Given the description of an element on the screen output the (x, y) to click on. 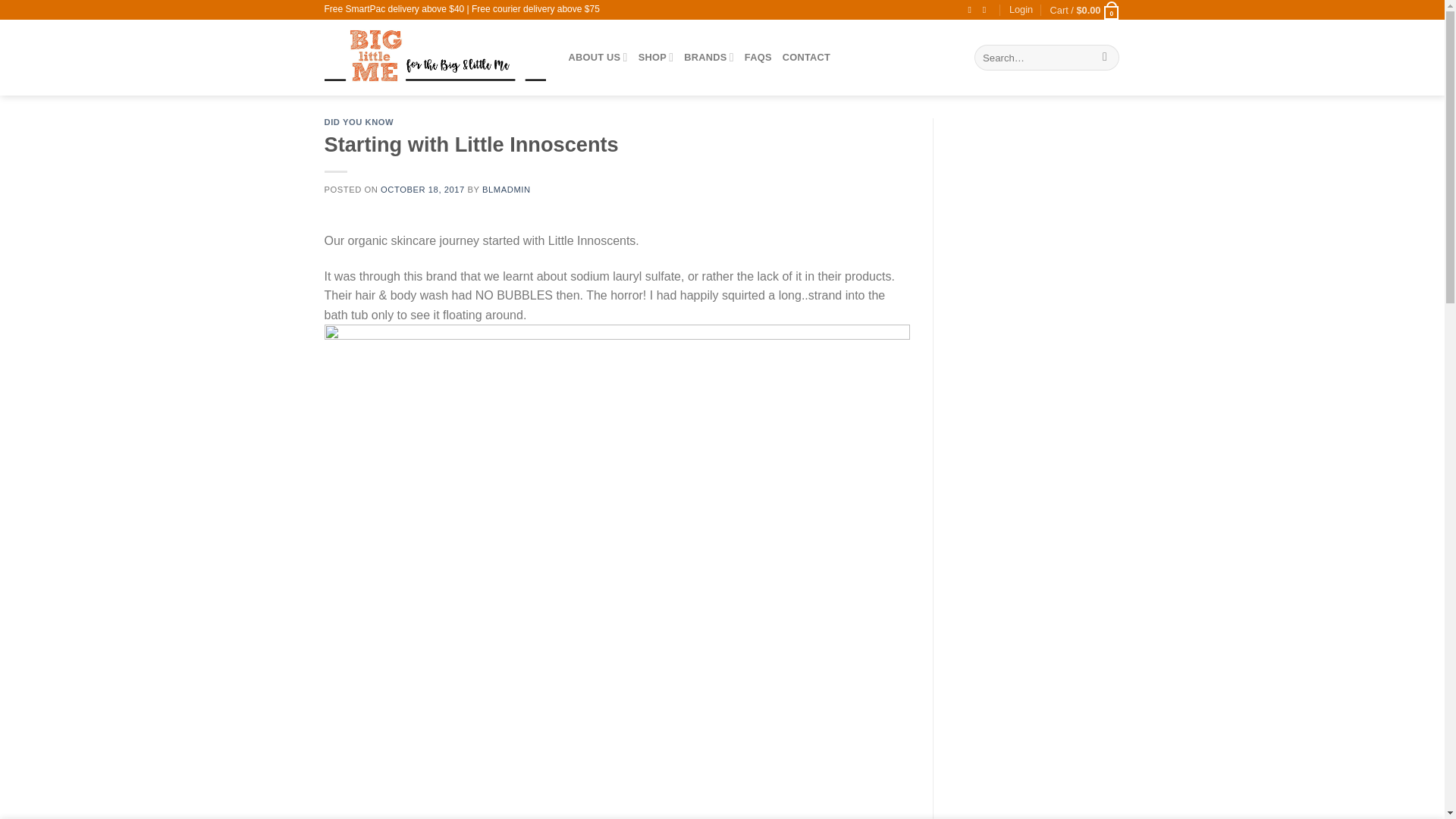
Cart (1085, 9)
SHOP (656, 57)
biglittleme.com (435, 57)
Login (1020, 9)
ABOUT US (598, 57)
